Given the description of an element on the screen output the (x, y) to click on. 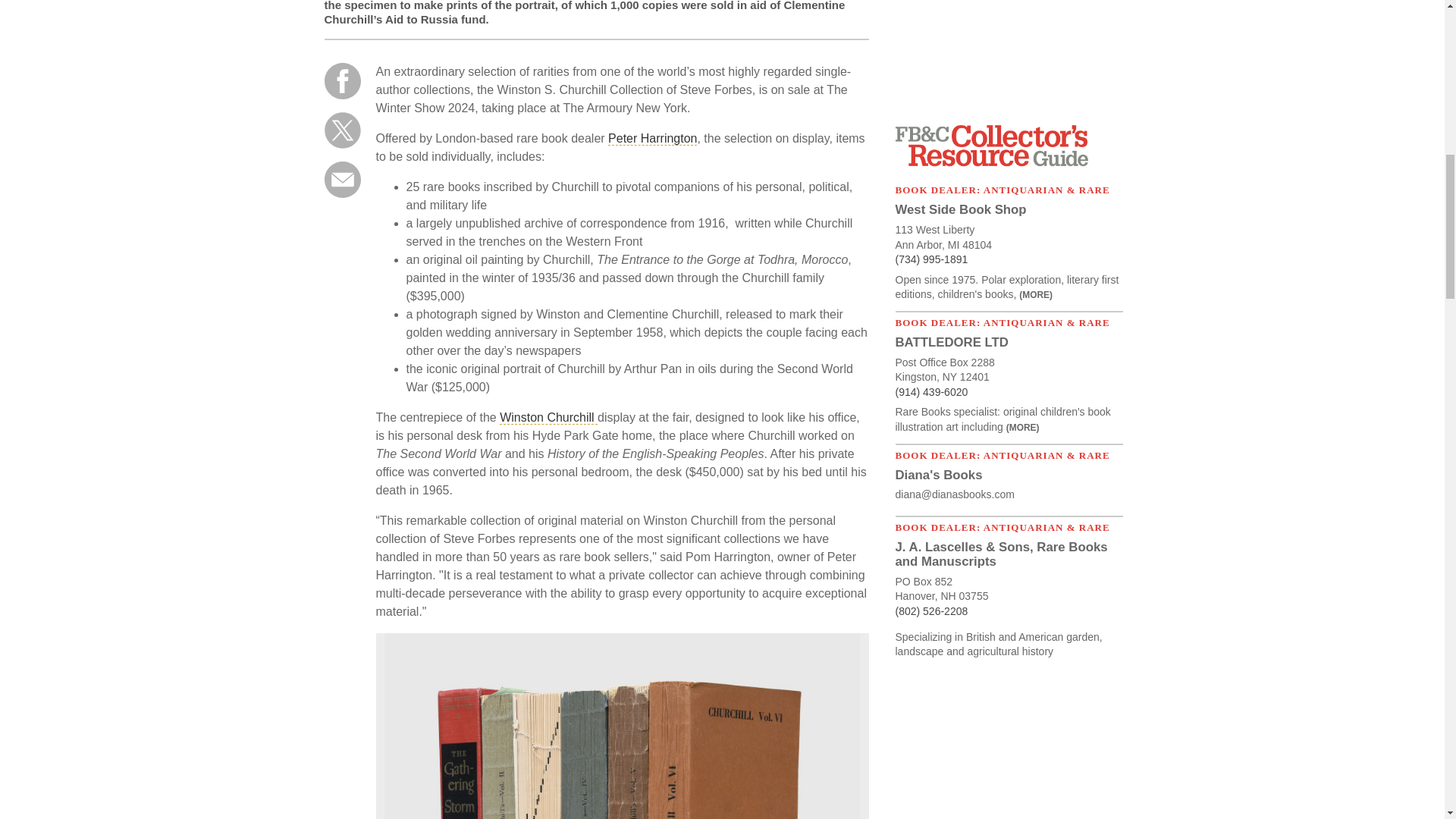
Winston Churchill (547, 418)
3rd party ad content (1008, 54)
Peter Harrington (652, 138)
